Given the description of an element on the screen output the (x, y) to click on. 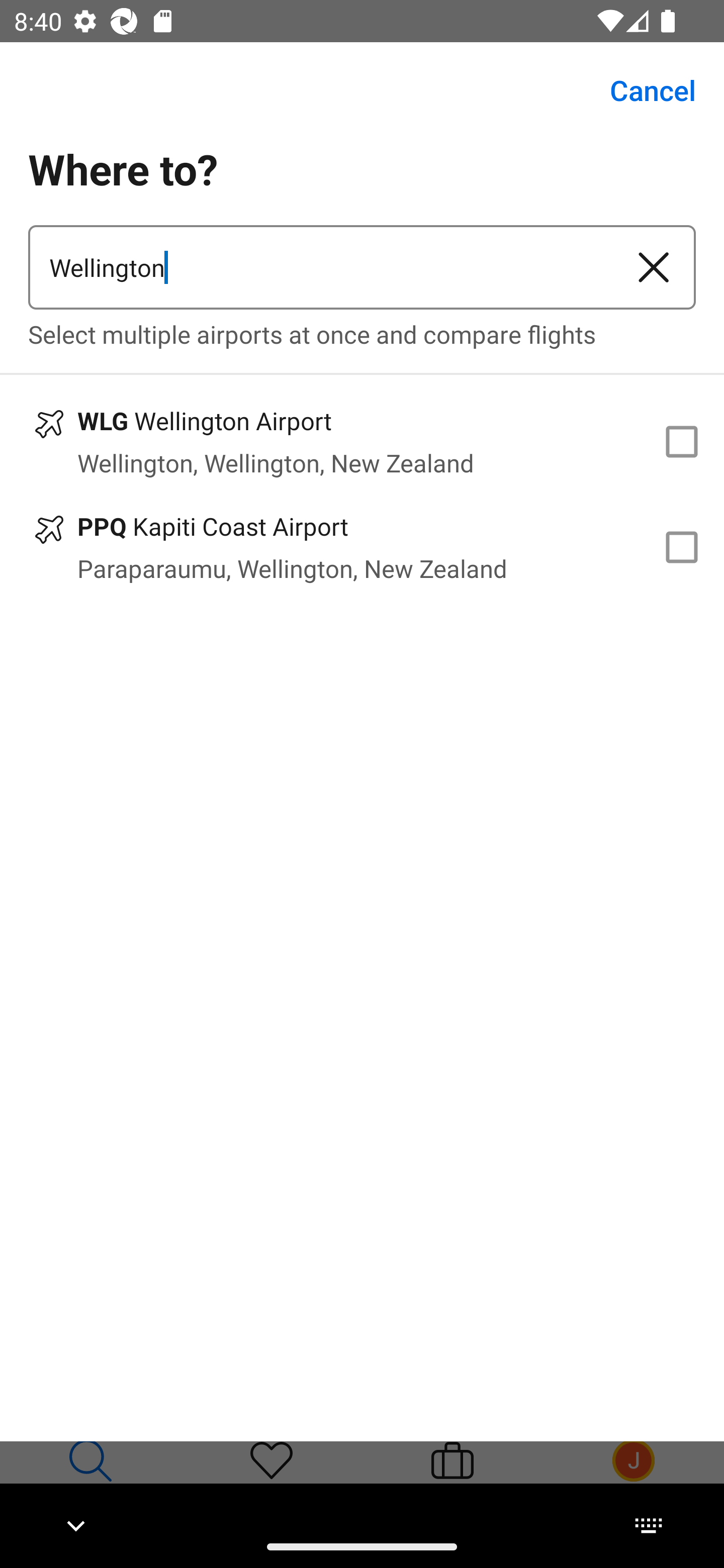
Cancel (641, 90)
Wellington (319, 266)
Clear airport or city (653, 266)
